Given the description of an element on the screen output the (x, y) to click on. 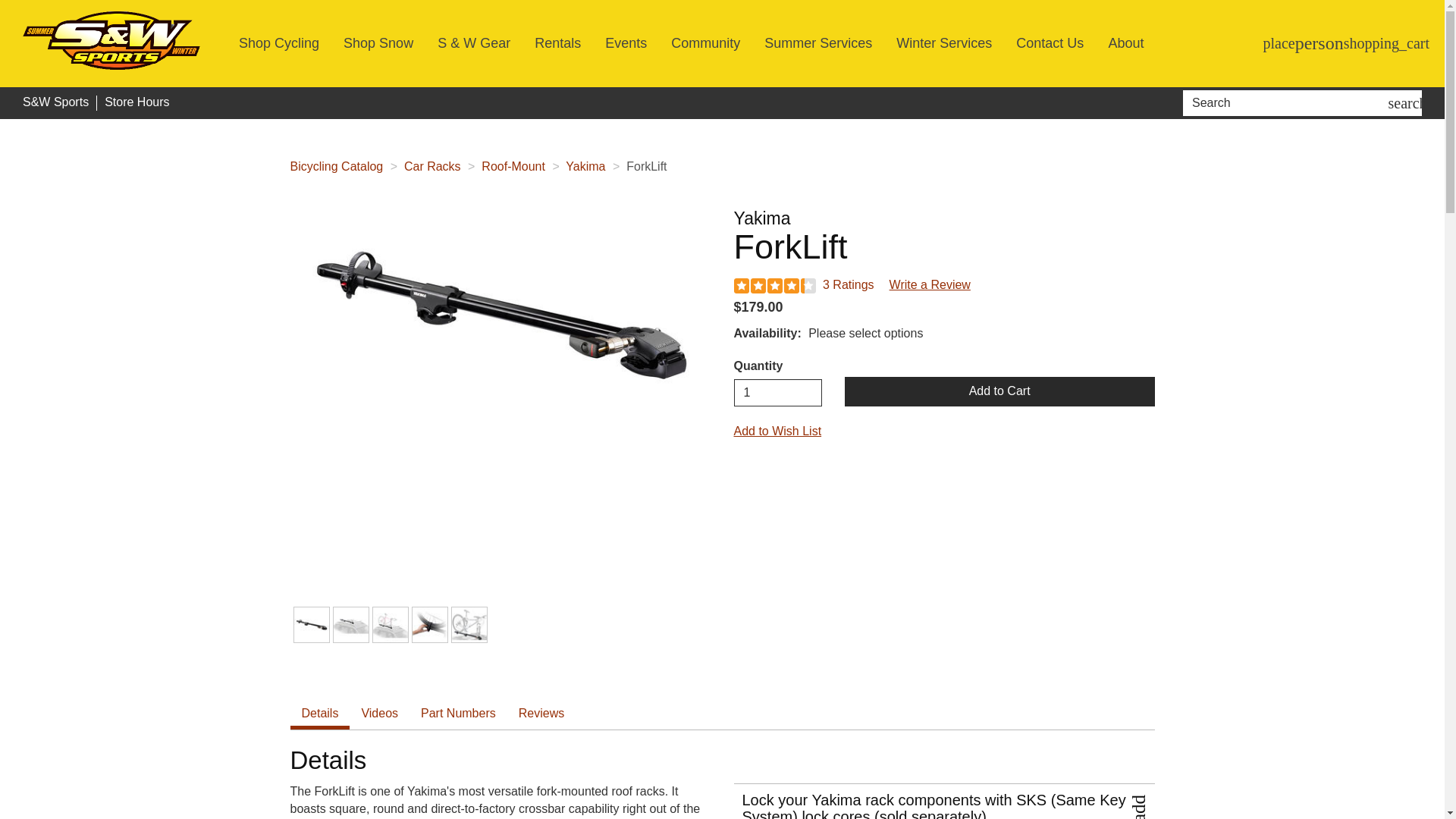
Store Hours (136, 102)
Shop Cycling (278, 42)
1 (777, 392)
Stores (1279, 43)
Account (1319, 43)
Yakima ForkLift (499, 316)
Search (1287, 103)
